Given the description of an element on the screen output the (x, y) to click on. 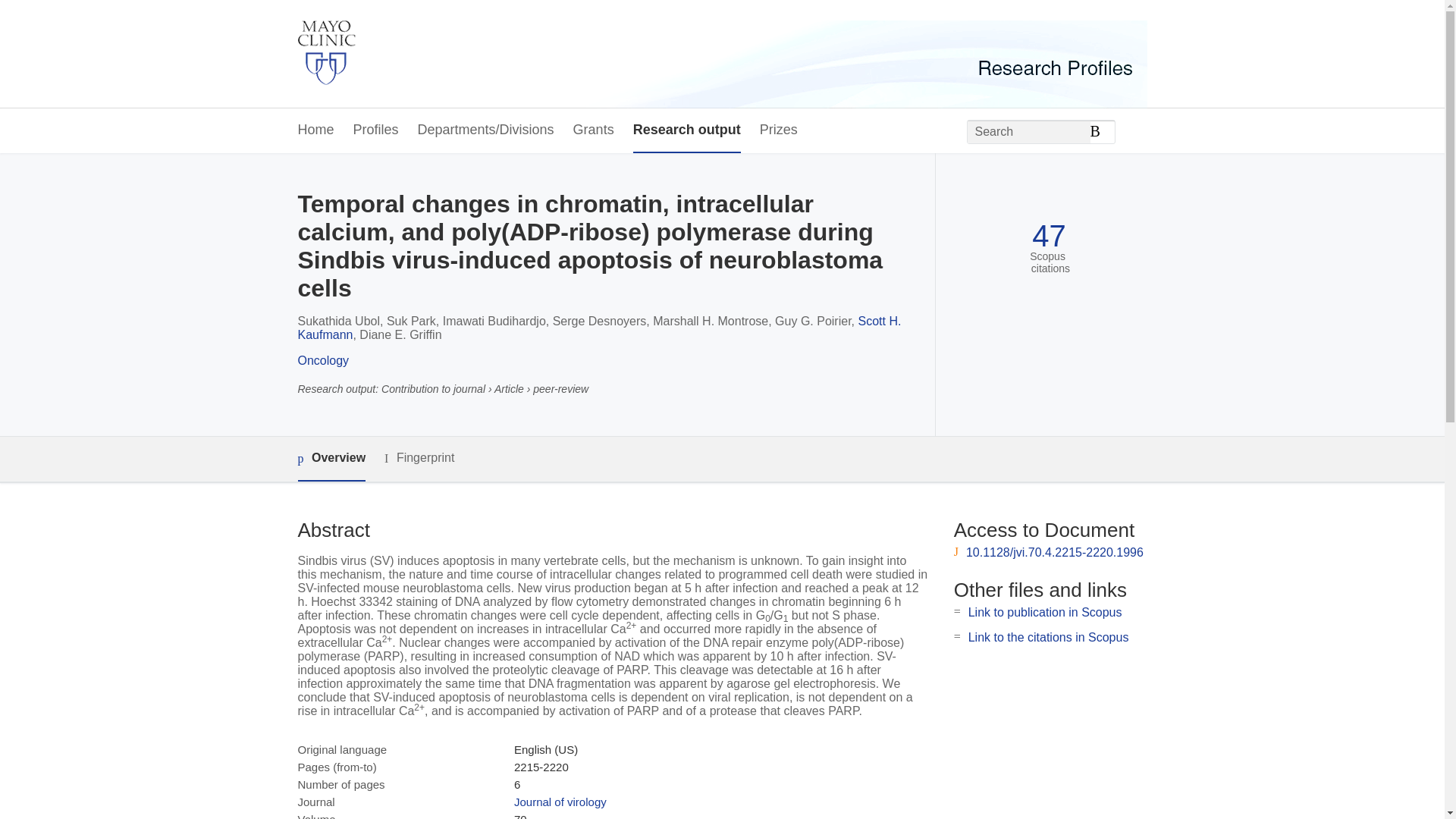
Overview (331, 458)
Mayo Clinic Home (326, 53)
Grants (593, 130)
Link to publication in Scopus (1045, 612)
47 (1048, 235)
Profiles (375, 130)
Link to the citations in Scopus (1048, 636)
Fingerprint (419, 457)
Home (315, 130)
Journal of virology (560, 801)
Oncology (323, 359)
Research output (687, 130)
Scott H. Kaufmann (599, 327)
Prizes (778, 130)
